Given the description of an element on the screen output the (x, y) to click on. 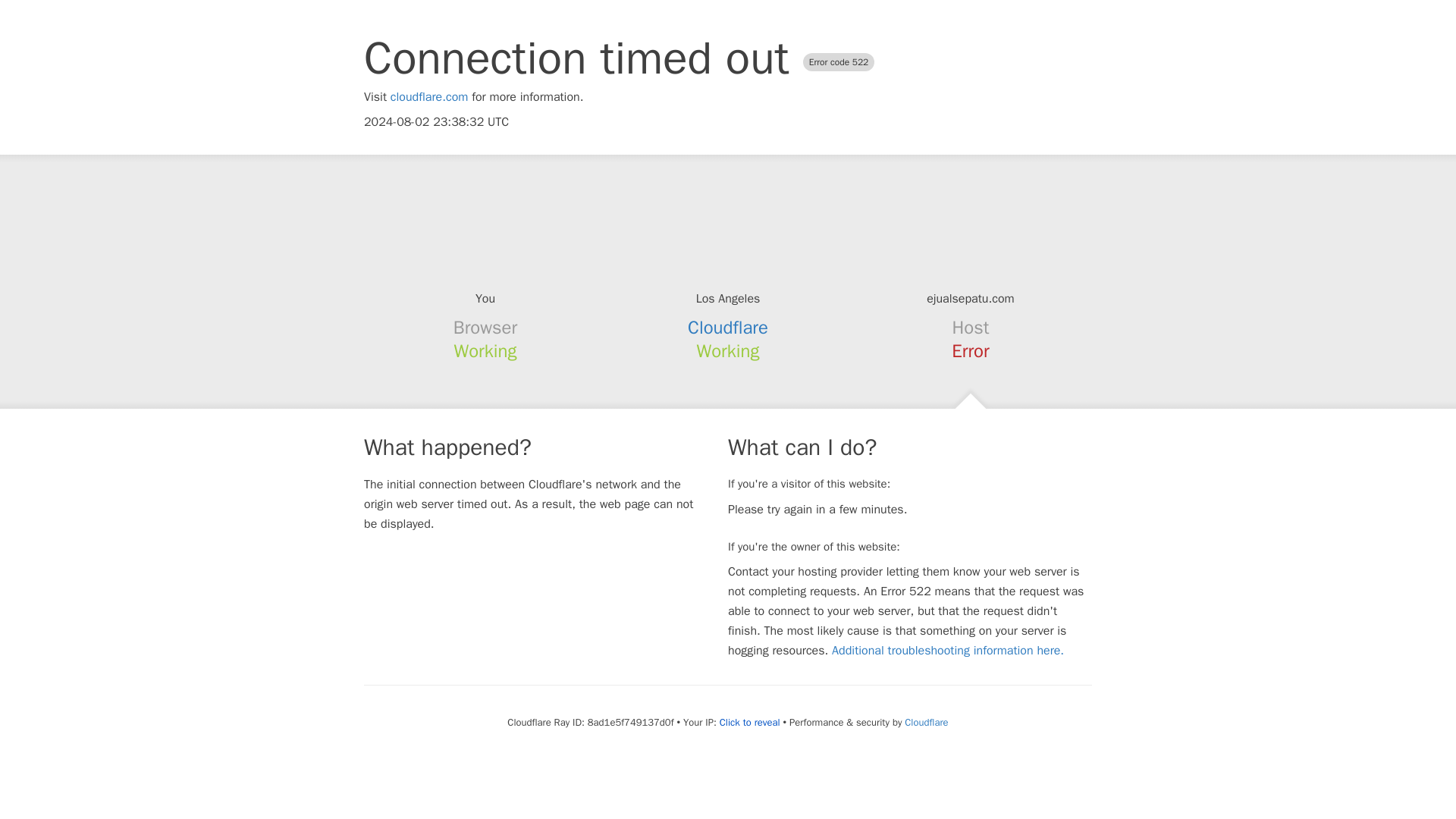
Cloudflare (727, 327)
Cloudflare (925, 721)
cloudflare.com (429, 96)
Additional troubleshooting information here. (947, 650)
Click to reveal (749, 722)
